Given the description of an element on the screen output the (x, y) to click on. 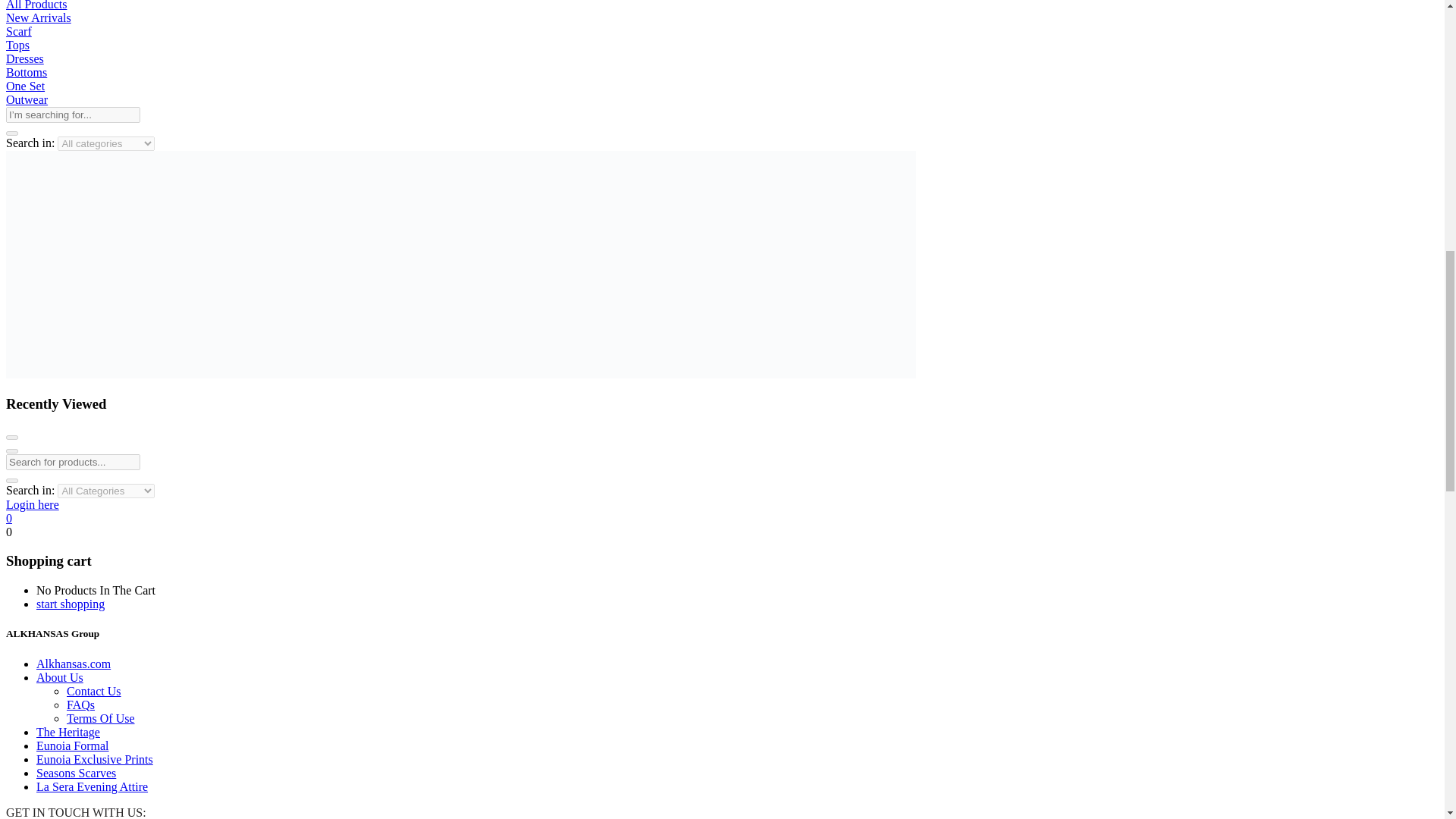
New Arrivals (38, 17)
All Products (35, 5)
Scarf (18, 31)
Tops (17, 44)
